Given the description of an element on the screen output the (x, y) to click on. 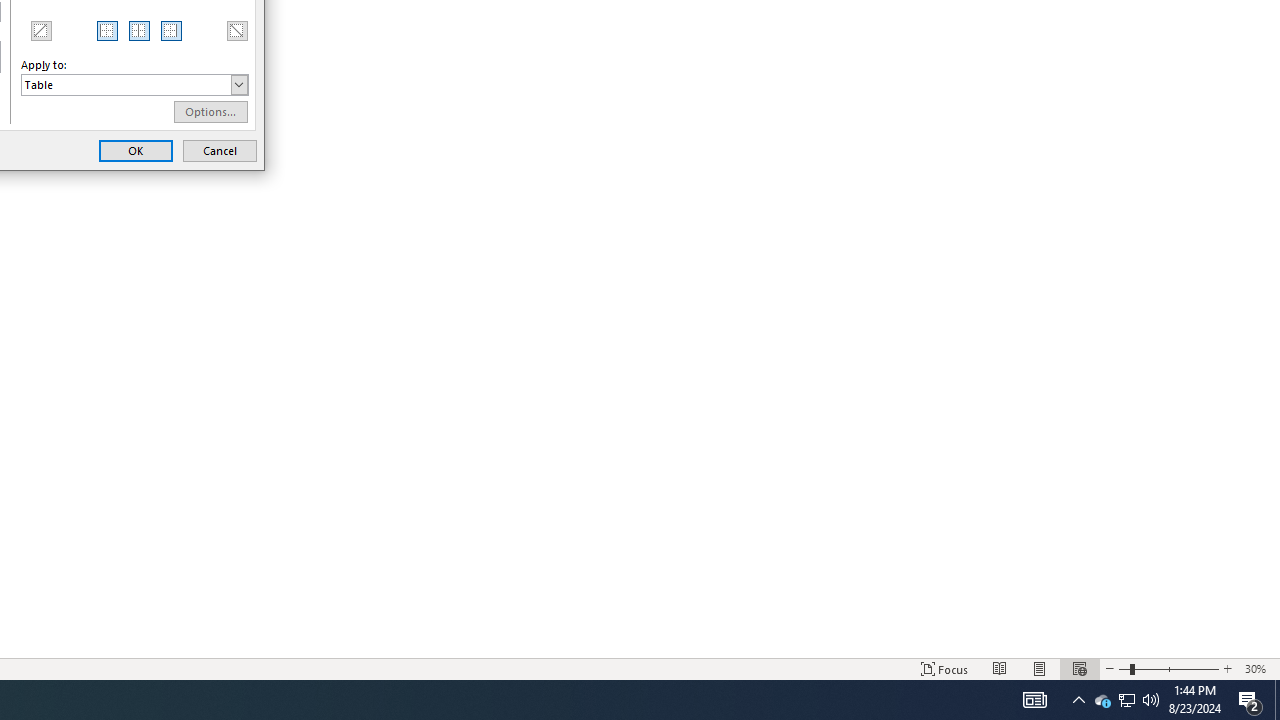
Show desktop (1277, 699)
Inside Vertical Border (139, 30)
Left Border (107, 30)
Action Center, 2 new notifications (1250, 699)
MSO Generic Control Container (107, 30)
Right Border (171, 30)
OK (136, 150)
Apply to: (134, 84)
Zoom (1168, 668)
